Given the description of an element on the screen output the (x, y) to click on. 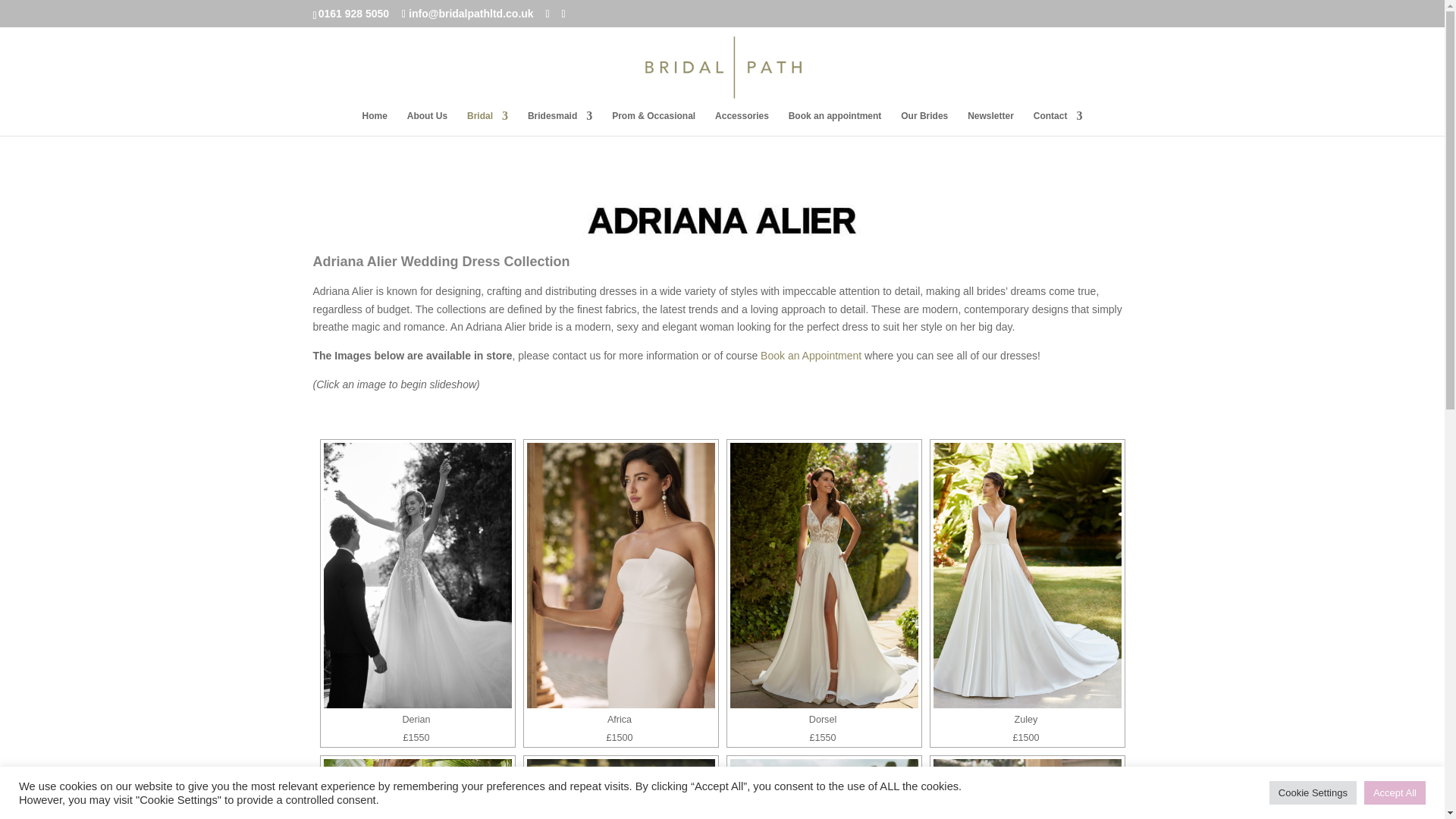
Bridesmaid (559, 122)
Our Brides (924, 122)
Newsletter (990, 122)
Book an appointment (835, 122)
About Us (426, 122)
Accessories (741, 122)
Contact (1058, 122)
Home (374, 122)
Bridal (487, 122)
